Given the description of an element on the screen output the (x, y) to click on. 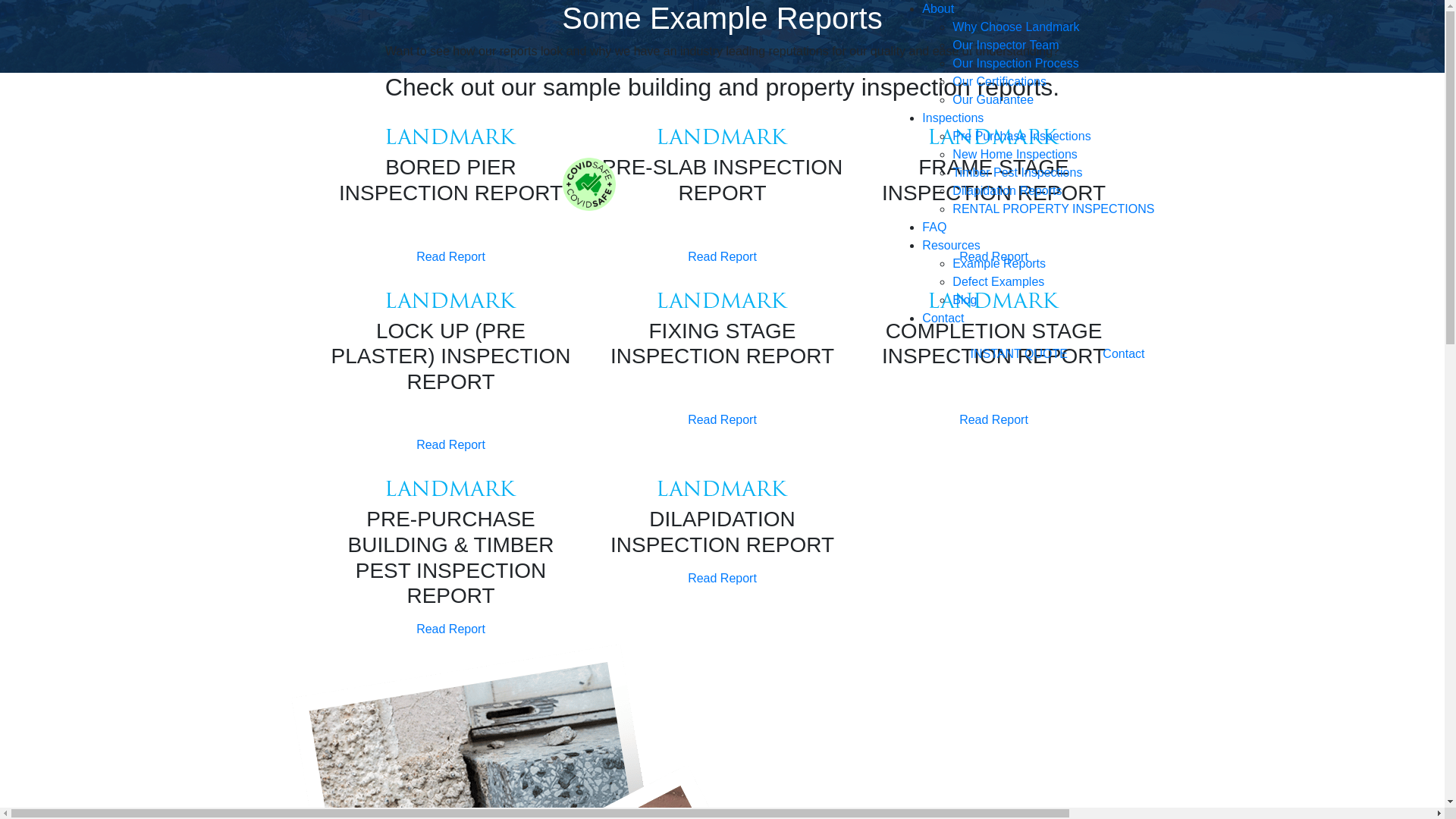
Contact Element type: text (1123, 353)
Read Report Element type: text (993, 419)
Read Report Element type: text (993, 256)
Read Report Element type: text (721, 419)
Our Guarantee Element type: text (992, 99)
Why Choose Landmark Element type: text (1015, 26)
RENTAL PROPERTY INSPECTIONS Element type: text (1053, 208)
Timber Pest Inspections Element type: text (1017, 172)
Blog Element type: text (964, 299)
About Element type: text (937, 8)
INSTANT QUOTE Element type: text (1018, 353)
New Home Inspections Element type: text (1014, 153)
Read Report Element type: text (721, 256)
Contact Element type: text (942, 317)
Example Reports Element type: text (998, 263)
FAQ Element type: text (934, 226)
Our Certifications Element type: text (999, 81)
Defect Examples Element type: text (998, 281)
Dilapidation Reports Element type: text (1006, 190)
Read Report Element type: text (450, 256)
Pre Purchase Inspections Element type: text (1021, 135)
Our Inspection Process Element type: text (1015, 62)
Read Report Element type: text (450, 629)
Resources Element type: text (950, 244)
Our Inspector Team Element type: text (1005, 44)
Read Report Element type: text (721, 578)
Read Report Element type: text (450, 444)
Inspections Element type: text (952, 117)
